Given the description of an element on the screen output the (x, y) to click on. 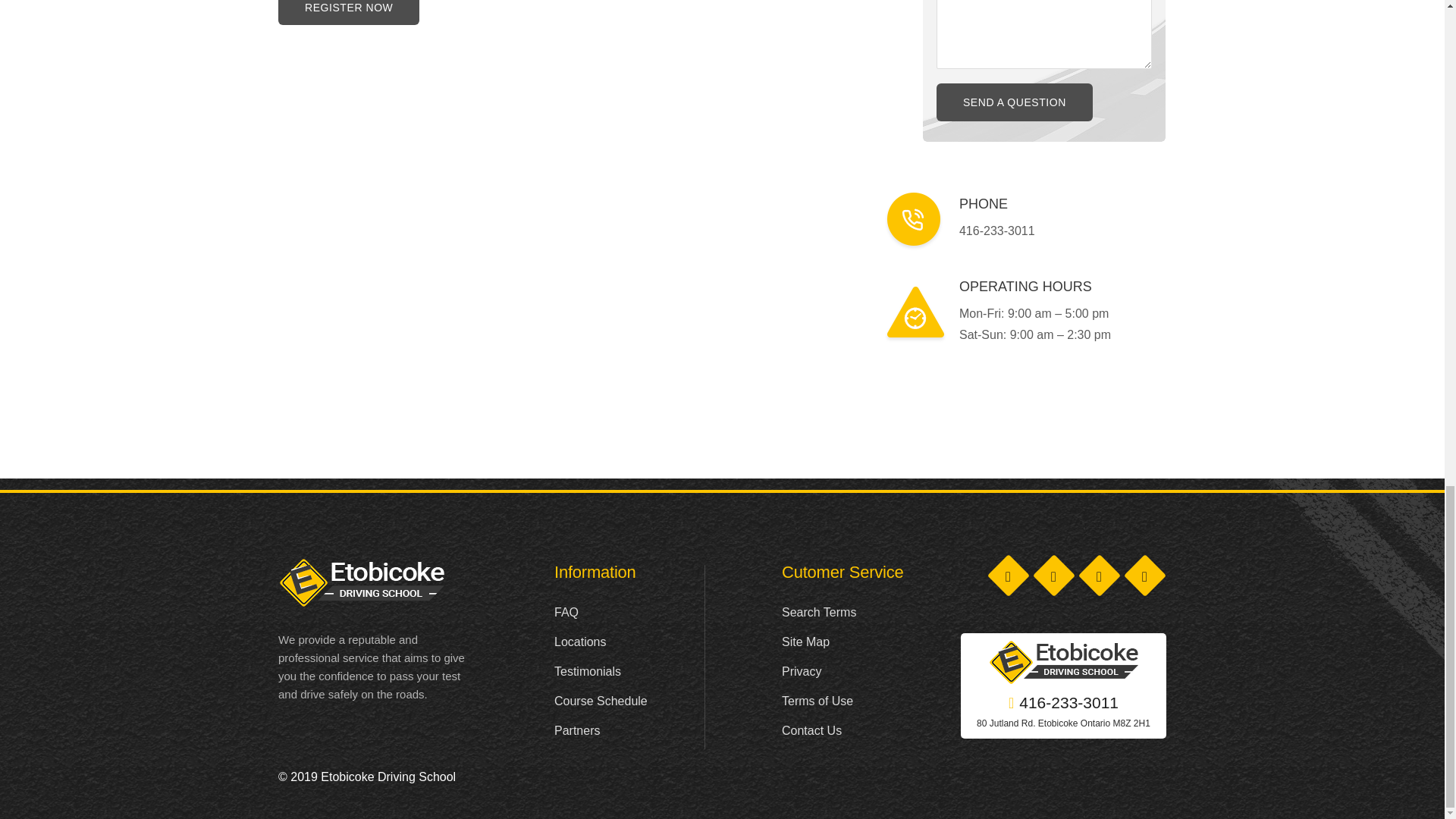
SEND A QUESTION (1014, 102)
SEND A QUESTION (1014, 102)
Search Terms (818, 612)
Terms of Use (817, 700)
Partners (576, 730)
Privacy (801, 671)
Site Map (805, 641)
Course Schedule (600, 700)
Contact Us (811, 730)
FAQ (566, 612)
Testimonials (587, 671)
REGISTER NOW (348, 12)
Locations (580, 641)
